Given the description of an element on the screen output the (x, y) to click on. 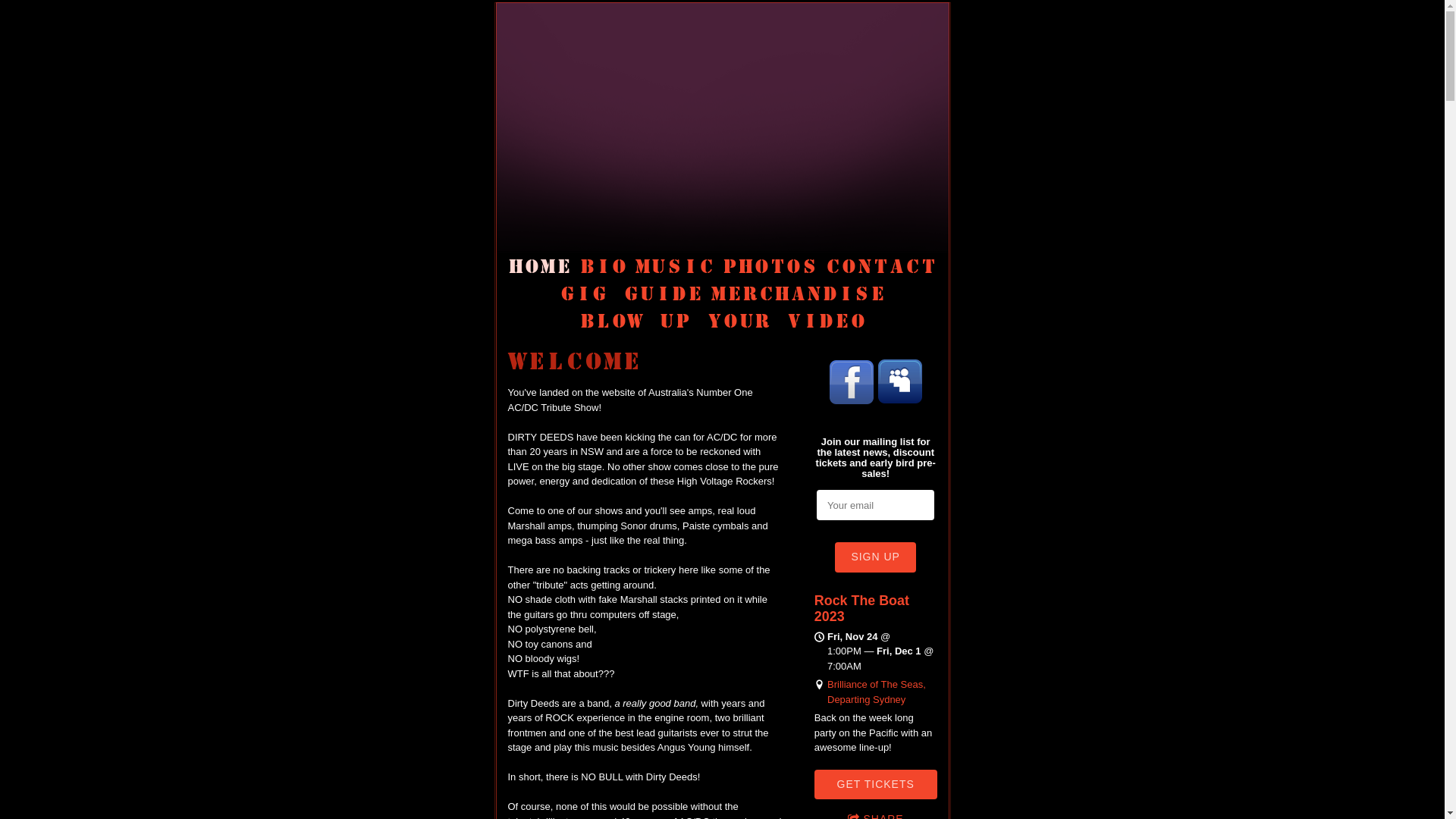
Bio Element type: text (603, 265)
Blow up your Video Element type: text (722, 320)
SIGN UP Element type: text (875, 557)
Home Element type: text (539, 265)
Gig Guide Element type: text (630, 293)
Contact Element type: text (880, 265)
Brilliance of The Seas, Departing Sydney Element type: text (876, 691)
http://www.myspace.com/dirty.deeds Element type: hover (899, 381)
Music Element type: text (674, 265)
Photos Element type: text (769, 265)
Rock The Boat 2023 Element type: text (861, 608)
Merchandise Element type: text (796, 293)
GET TICKETS Element type: text (875, 783)
